Given the description of an element on the screen output the (x, y) to click on. 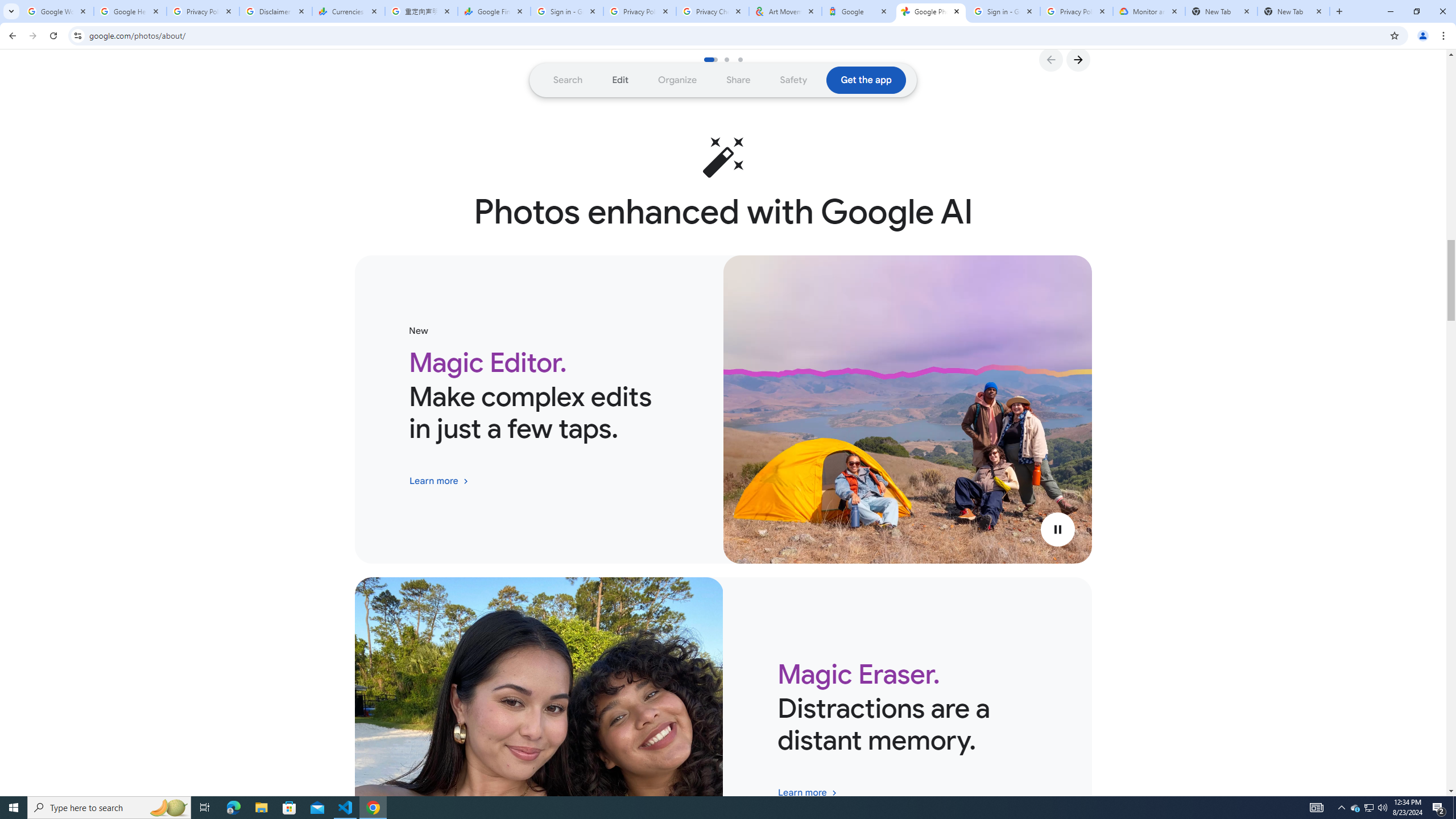
Go to Previous Slide (1050, 59)
Wand with sparkles (723, 156)
Currencies - Google Finance (348, 11)
Go to slide 1 (710, 59)
Sign in - Google Accounts (1003, 11)
